Given the description of an element on the screen output the (x, y) to click on. 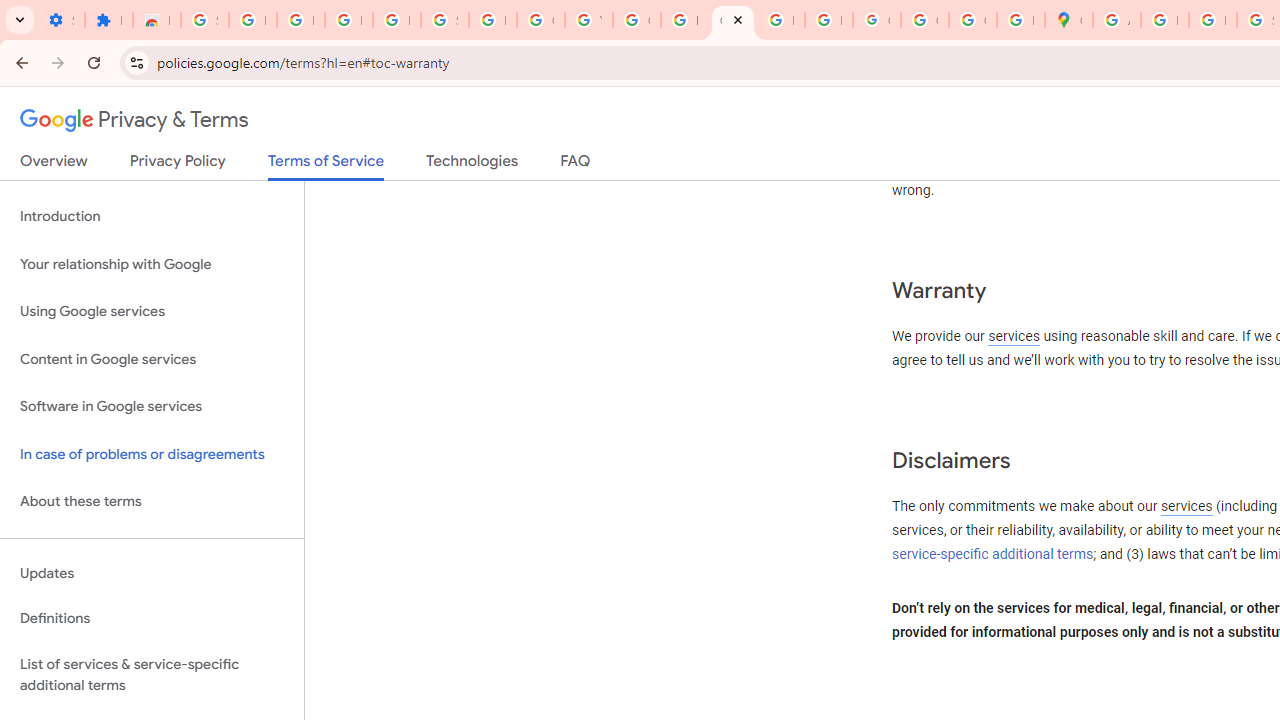
Sign in - Google Accounts (444, 20)
In case of problems or disagreements (152, 453)
Google Maps (1068, 20)
List of services & service-specific additional terms (152, 674)
Extensions (108, 20)
Delete photos & videos - Computer - Google Photos Help (300, 20)
Sign in - Google Accounts (204, 20)
services (1186, 507)
service-specific additional terms (993, 554)
YouTube (588, 20)
